Given the description of an element on the screen output the (x, y) to click on. 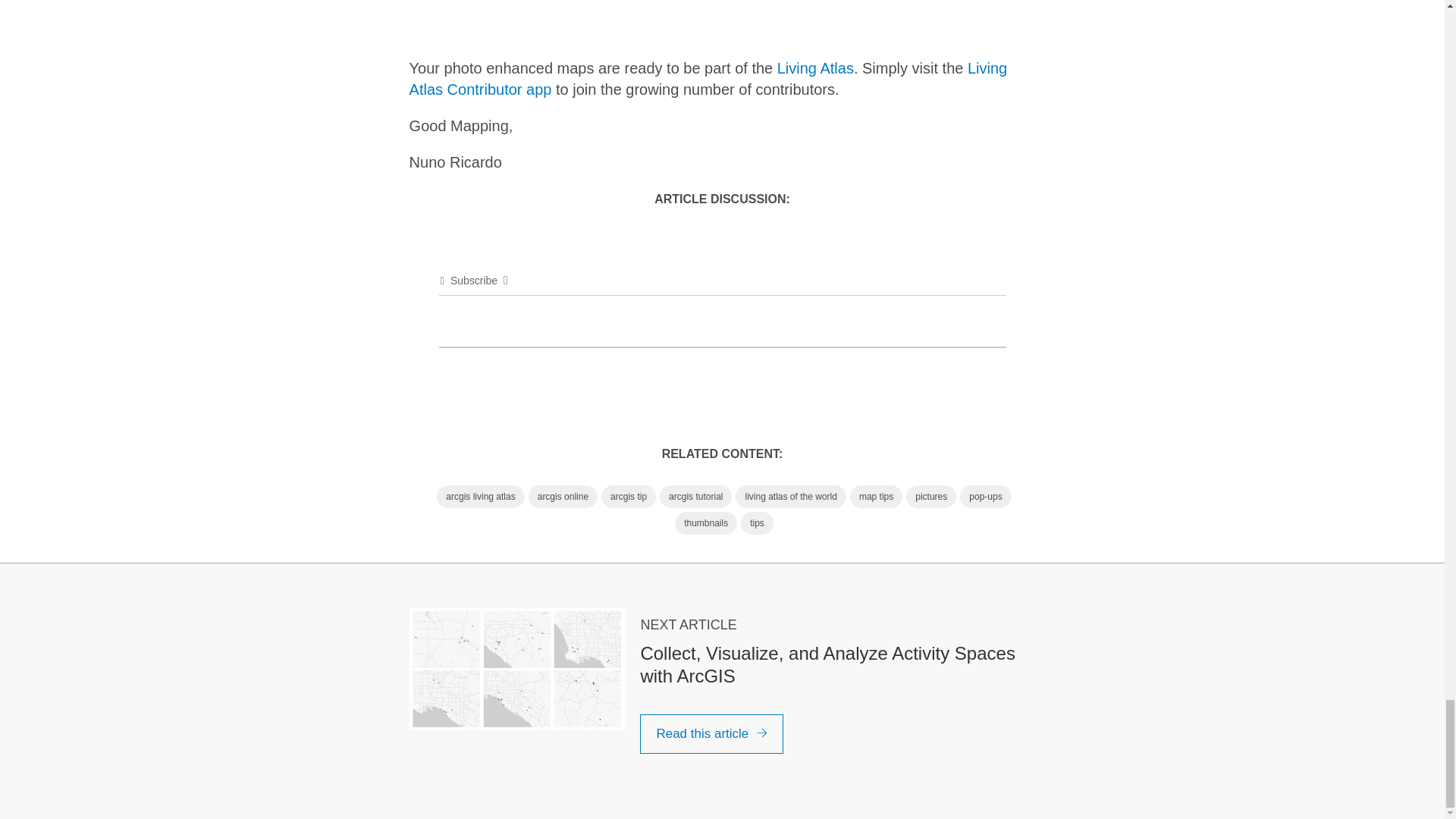
Living Atlas Contributor app (708, 78)
arcgis online (562, 496)
Living Atlas (815, 67)
arcgis tutorial (695, 496)
living atlas of the world (790, 496)
arcgis living atlas (480, 496)
arcgis tip (628, 496)
